Given the description of an element on the screen output the (x, y) to click on. 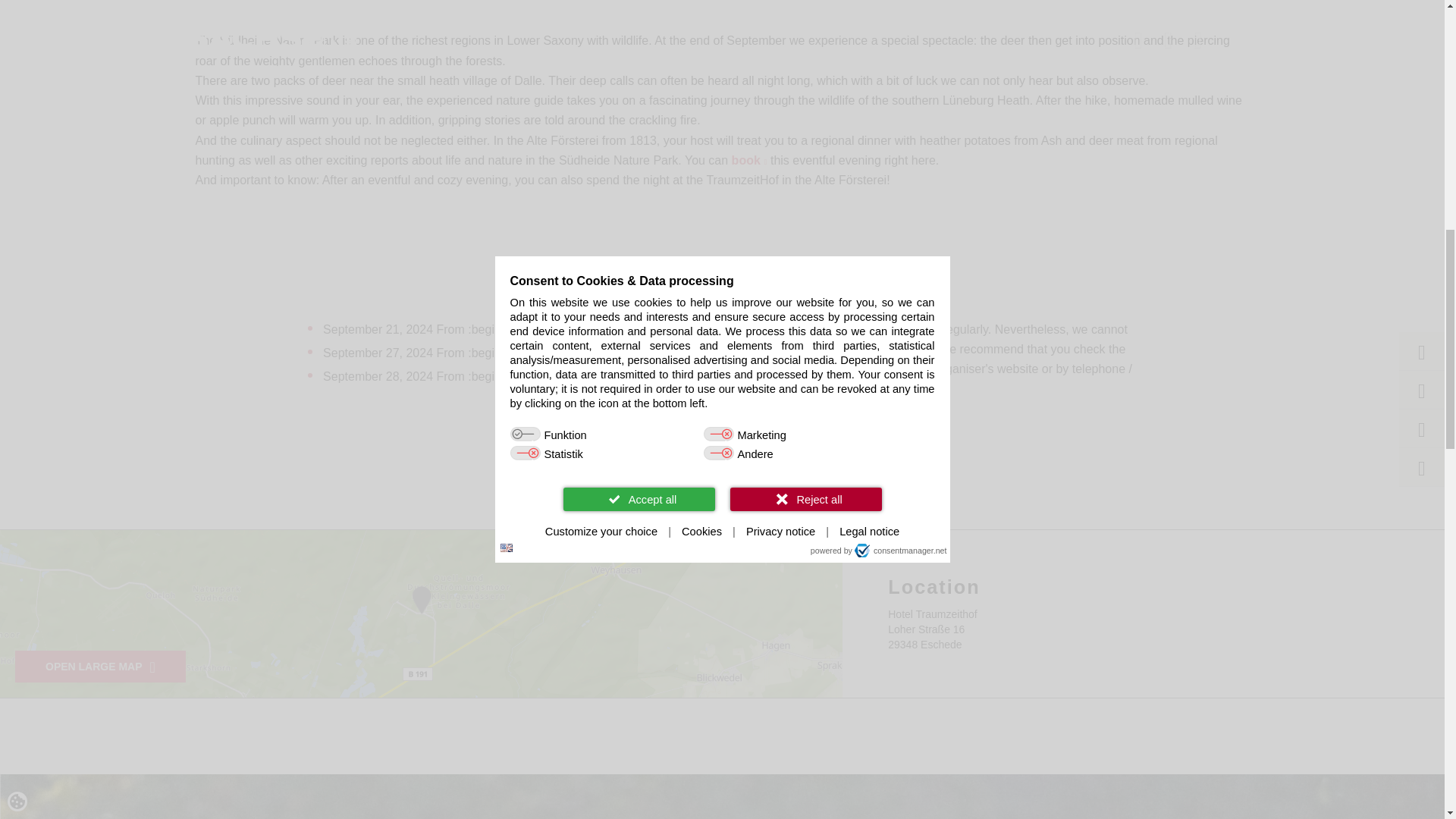
OPEN LARGE MAP (100, 666)
DATES AS AN ICALENDAR FILE (722, 451)
book (749, 160)
